Given the description of an element on the screen output the (x, y) to click on. 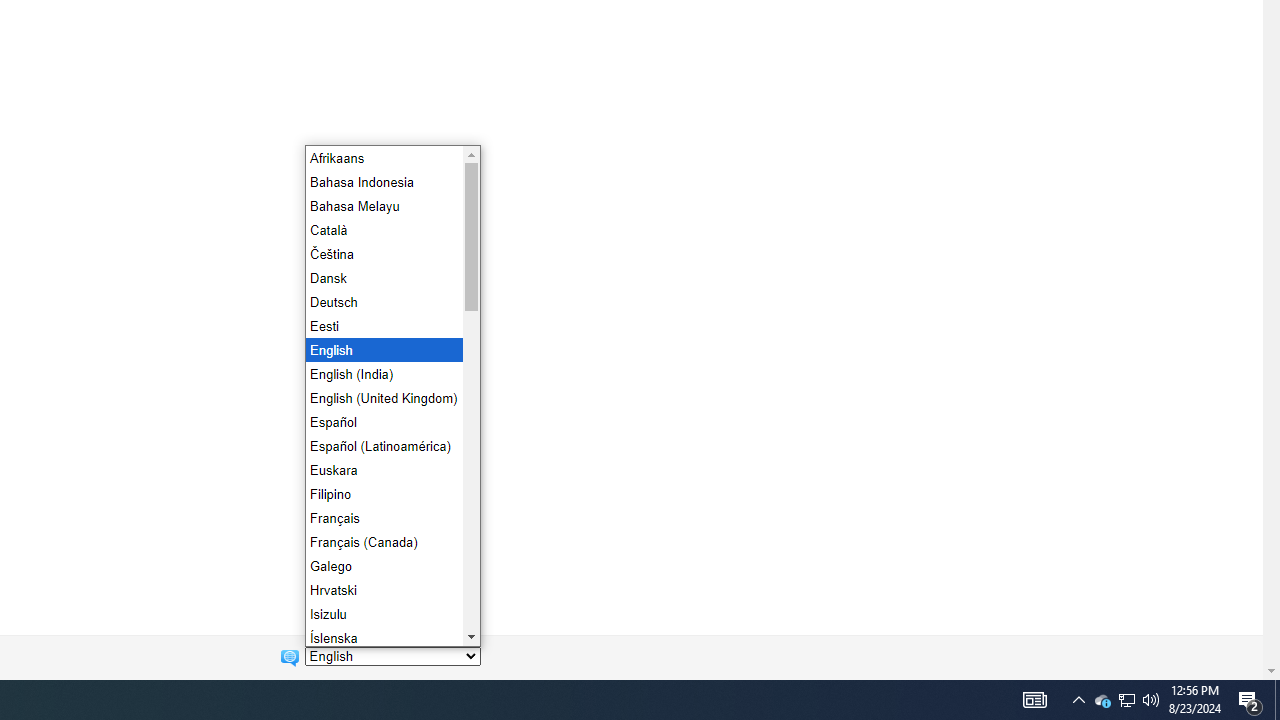
Filipino (382, 493)
Italiano (382, 661)
English (India) (382, 373)
Euskara (382, 469)
English (United Kingdom) (382, 397)
Kiswahili (382, 685)
Isizulu (382, 613)
Afrikaans (382, 157)
Bahasa Indonesia (382, 181)
Bahasa Melayu (382, 205)
